Given the description of an element on the screen output the (x, y) to click on. 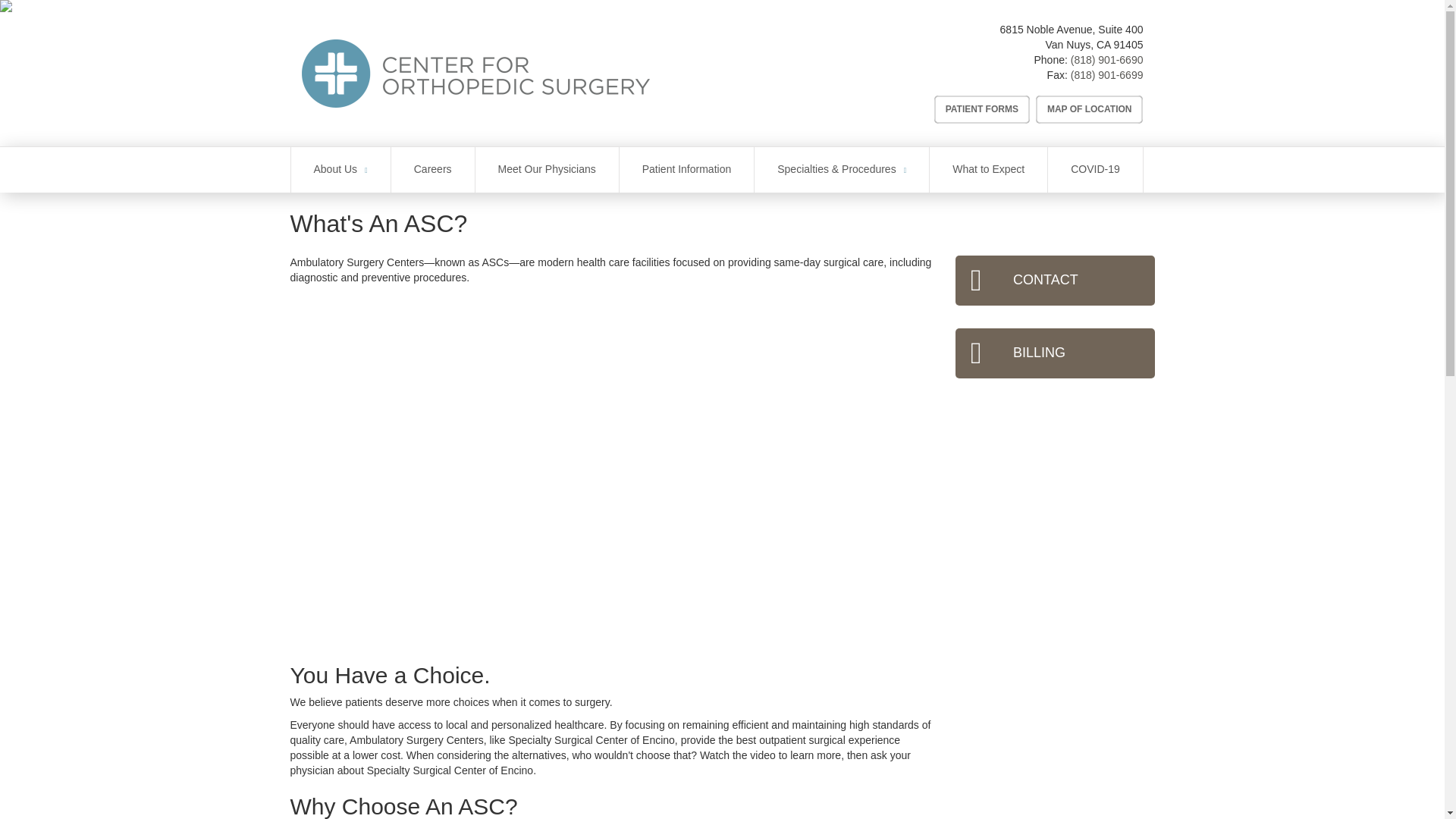
Home (542, 73)
BILLING (1054, 353)
Meet Our Physicians (547, 169)
MAP OF LOCATION (1088, 109)
CONTACT (1054, 280)
About Us (340, 169)
Patient Information (687, 169)
What to Expect (988, 169)
PATIENT FORMS (981, 109)
